Given the description of an element on the screen output the (x, y) to click on. 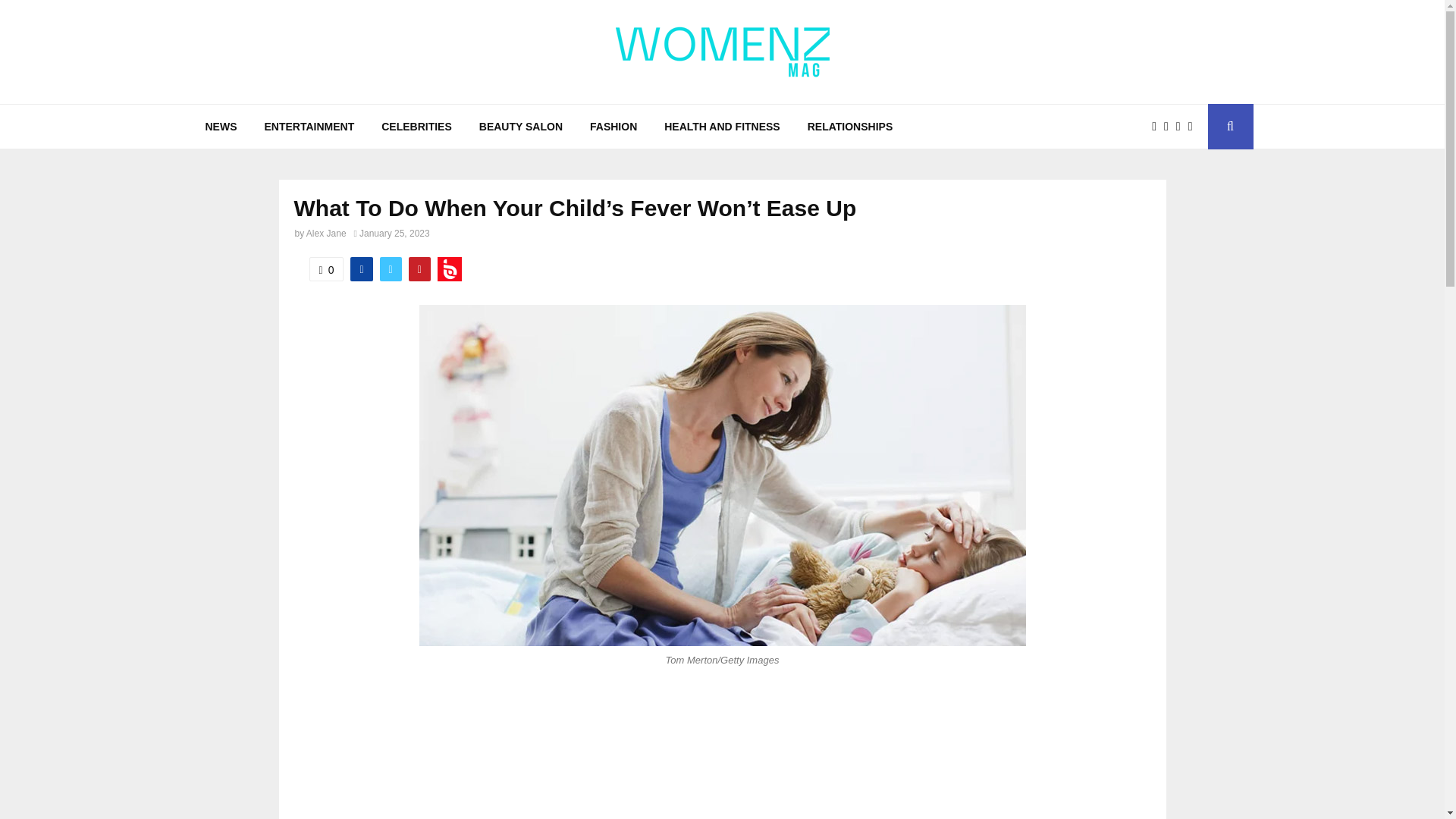
Alex Jane (325, 233)
ENTERTAINMENT (309, 126)
RELATIONSHIPS (850, 126)
CELEBRITIES (416, 126)
HEALTH AND FITNESS (721, 126)
FASHION (613, 126)
Like (325, 269)
Advertisement (722, 759)
NEWS (220, 126)
BEAUTY SALON (520, 126)
0 (325, 269)
